Given the description of an element on the screen output the (x, y) to click on. 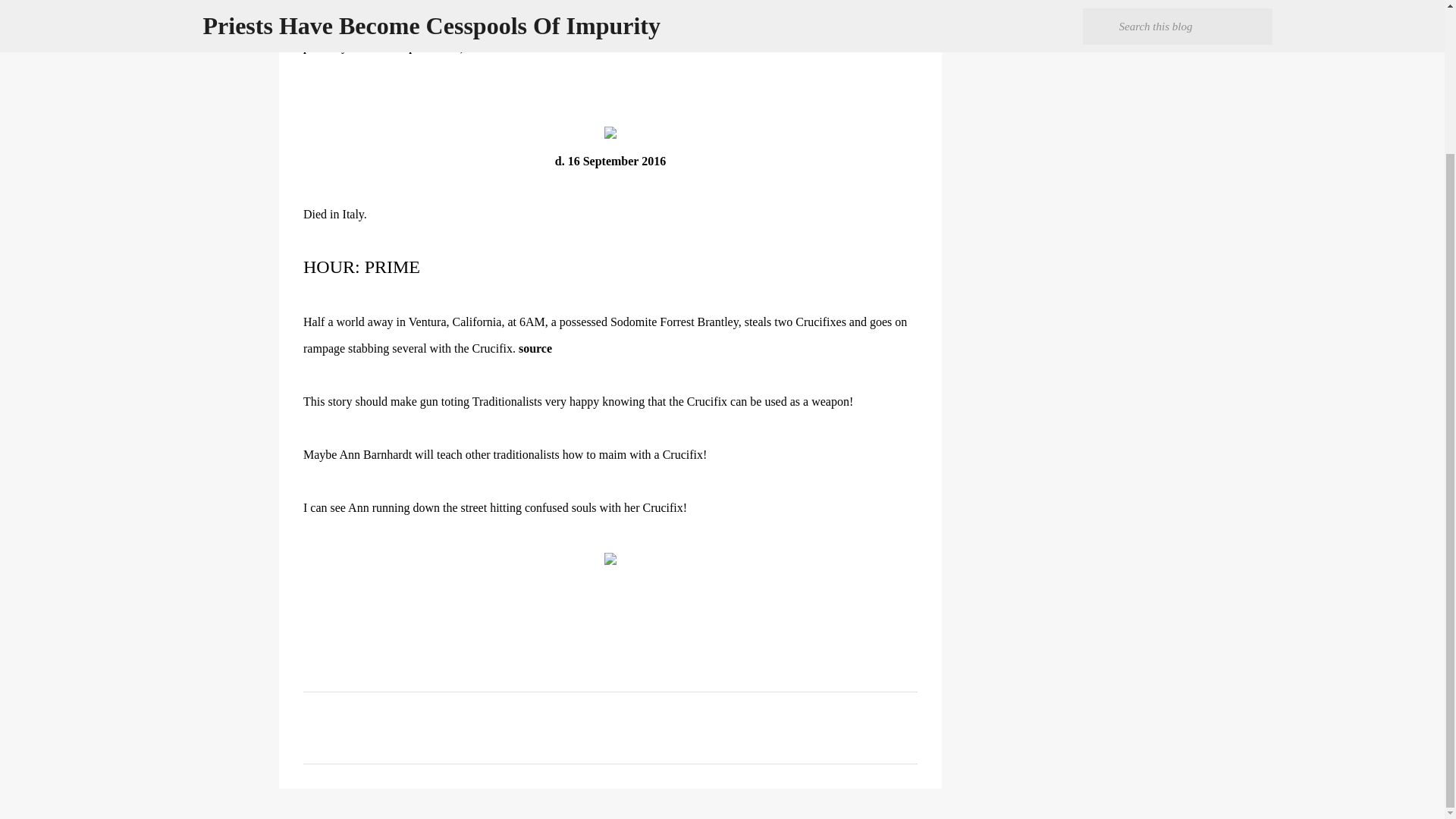
source (534, 348)
September 17, 2016 (441, 48)
author profile (366, 48)
permanent link (441, 48)
dxv515 (366, 48)
